Given the description of an element on the screen output the (x, y) to click on. 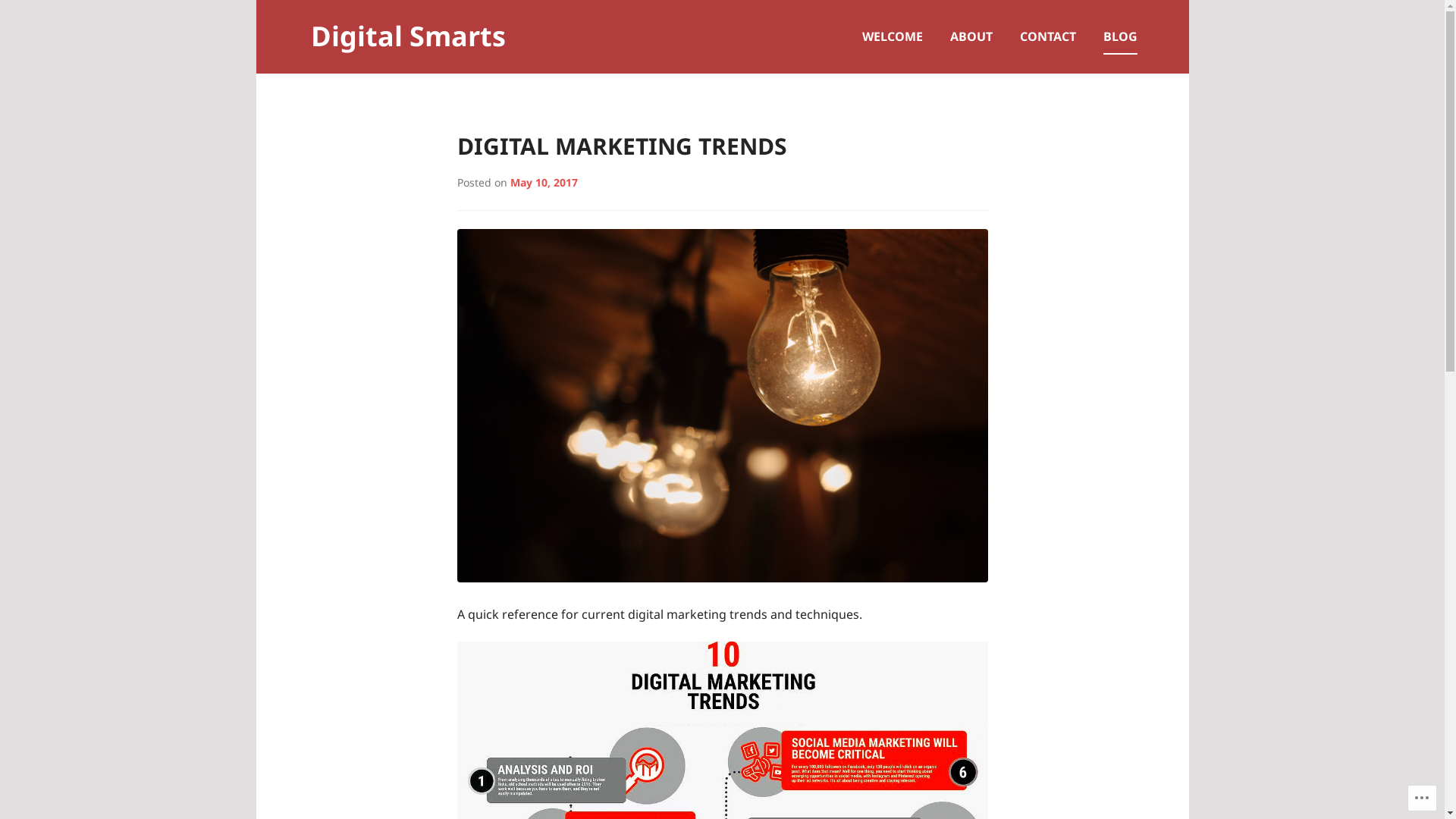
ABOUT Element type: text (970, 36)
WELCOME Element type: text (891, 36)
Digital Smarts Element type: text (407, 35)
BLOG Element type: text (1119, 36)
DIGITAL MARKETING TRENDS Element type: text (621, 145)
Search Element type: text (43, 18)
May 10, 2017 Element type: text (543, 182)
CONTACT Element type: text (1047, 36)
